Given the description of an element on the screen output the (x, y) to click on. 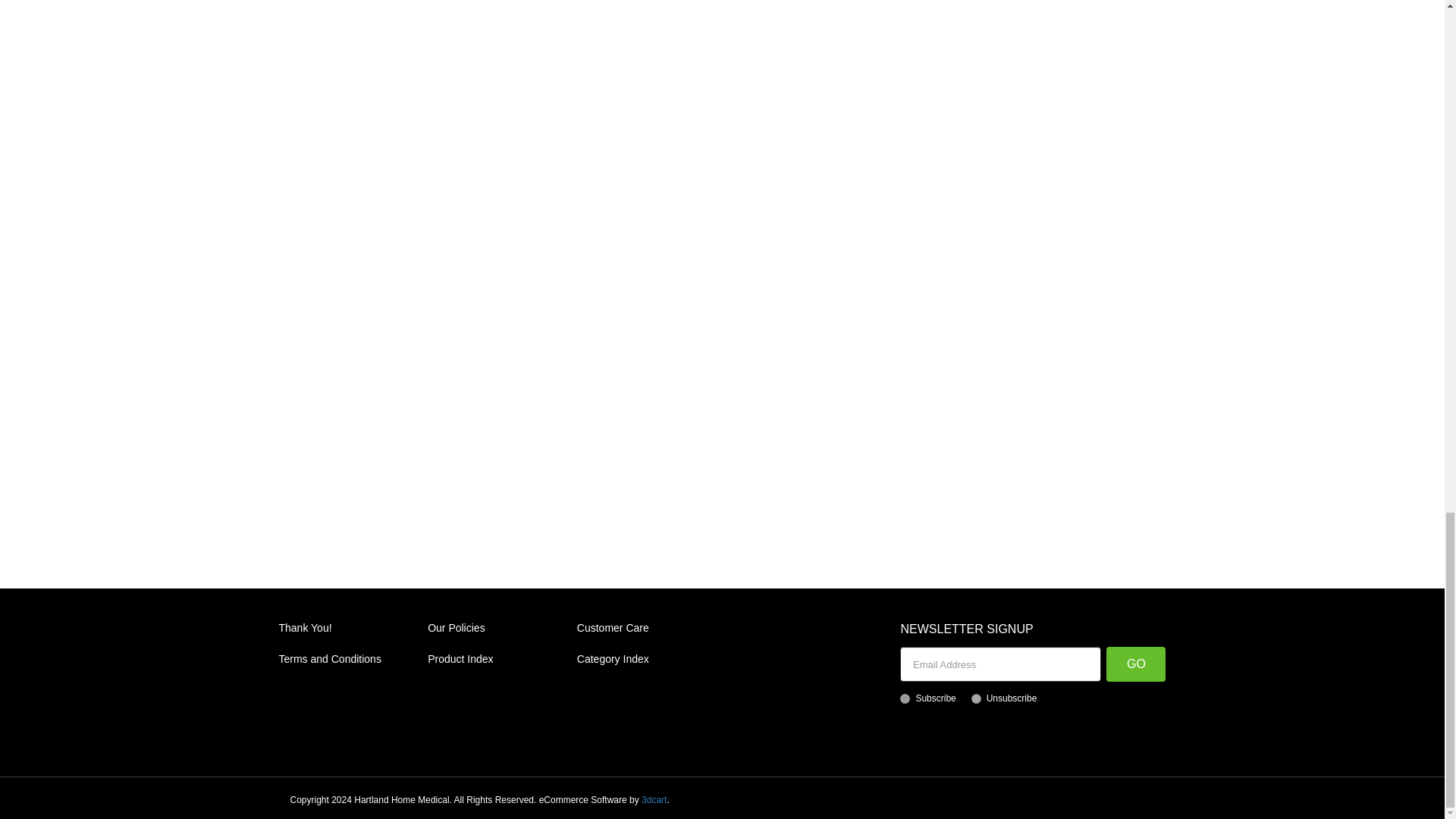
0 (976, 698)
1 (904, 698)
